Given the description of an element on the screen output the (x, y) to click on. 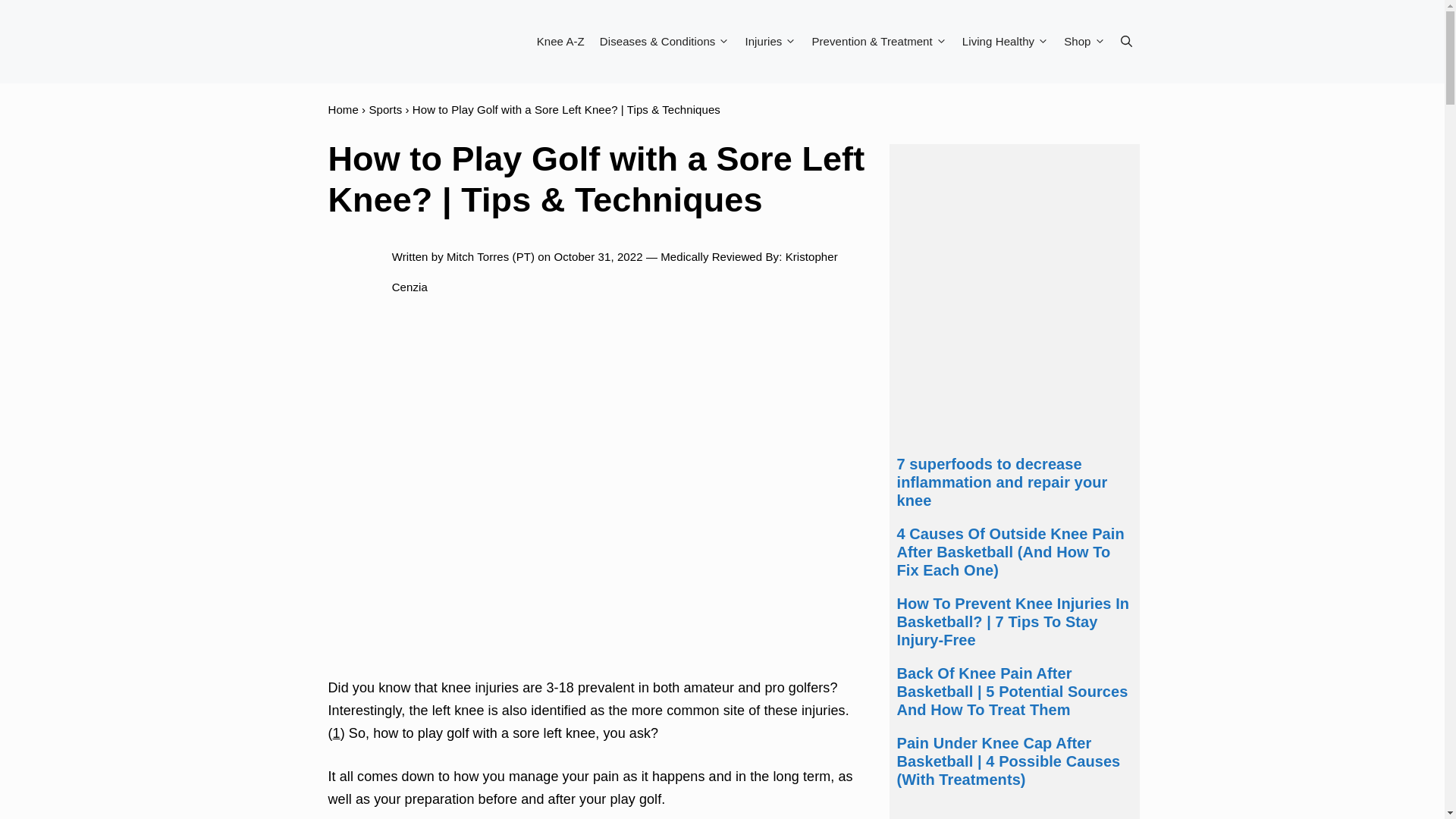
Knee A-Z (560, 41)
Shop (1084, 41)
Living Healthy (1006, 41)
Injuries (769, 41)
